Given the description of an element on the screen output the (x, y) to click on. 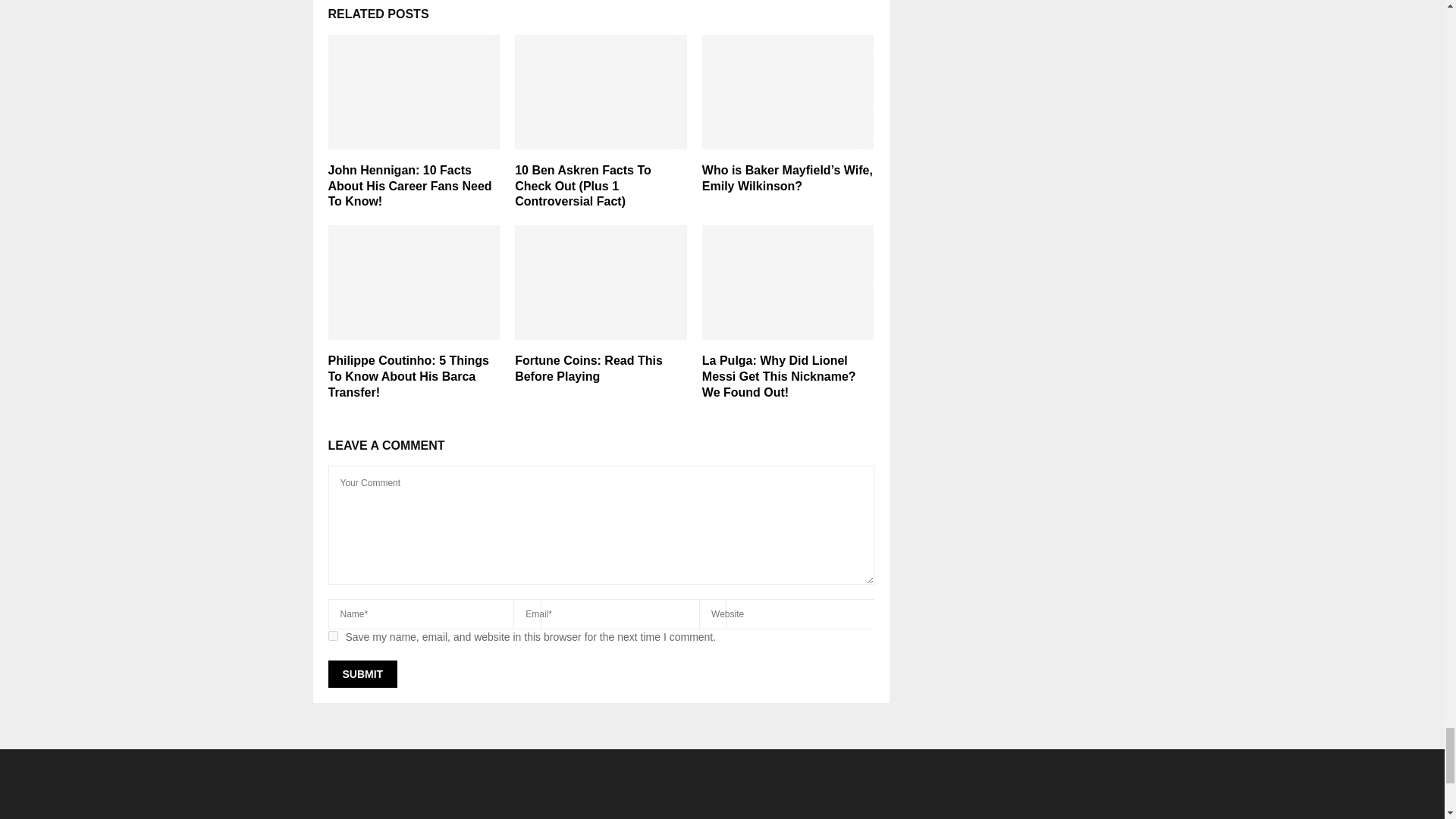
John Hennigan: 10 Facts About His Career Fans Need To Know! (409, 185)
Submit (362, 673)
yes (332, 635)
Fortune Coins: Read This Before Playing (588, 368)
